Given the description of an element on the screen output the (x, y) to click on. 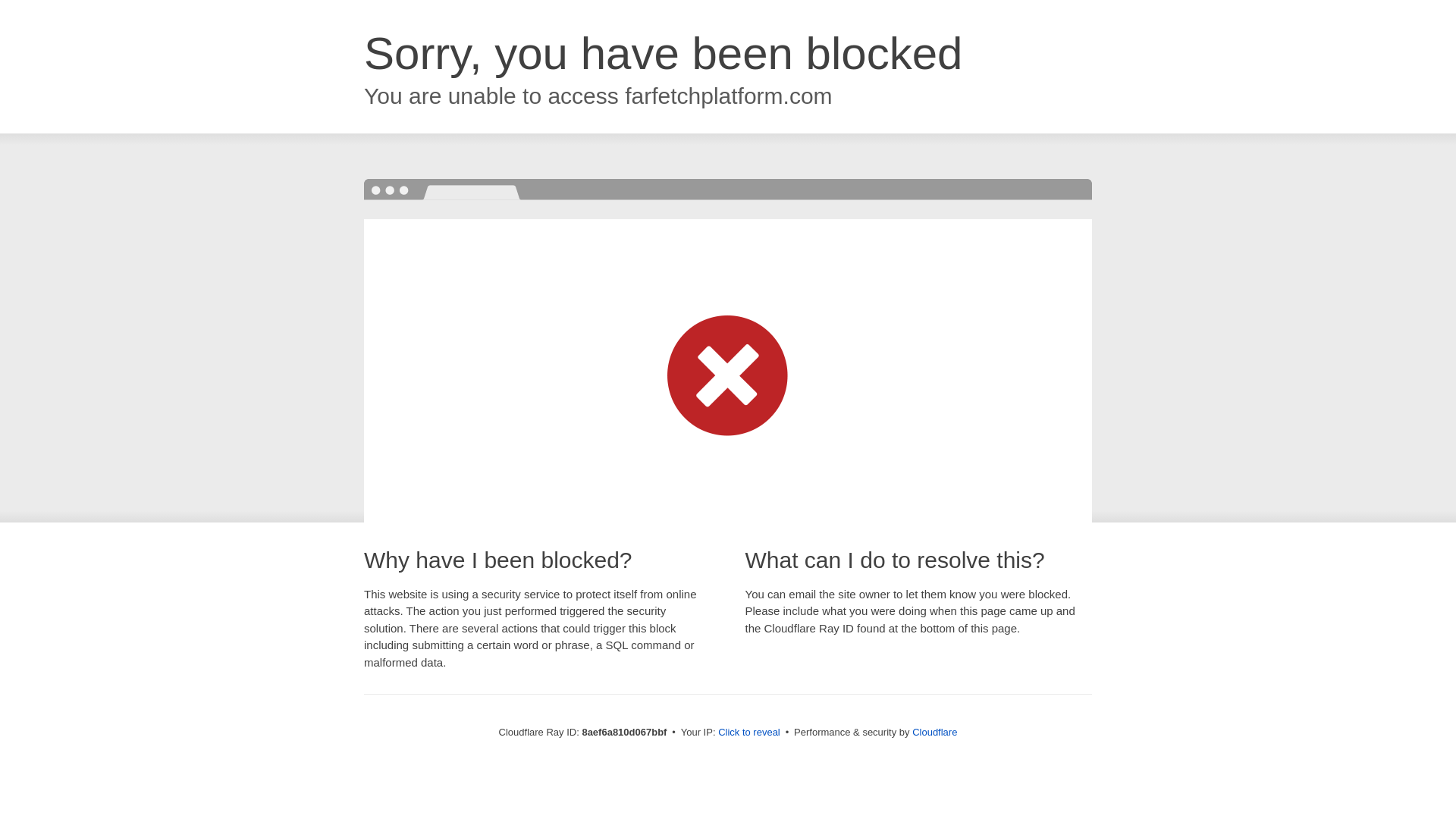
Click to reveal (748, 732)
Cloudflare (934, 731)
